Given the description of an element on the screen output the (x, y) to click on. 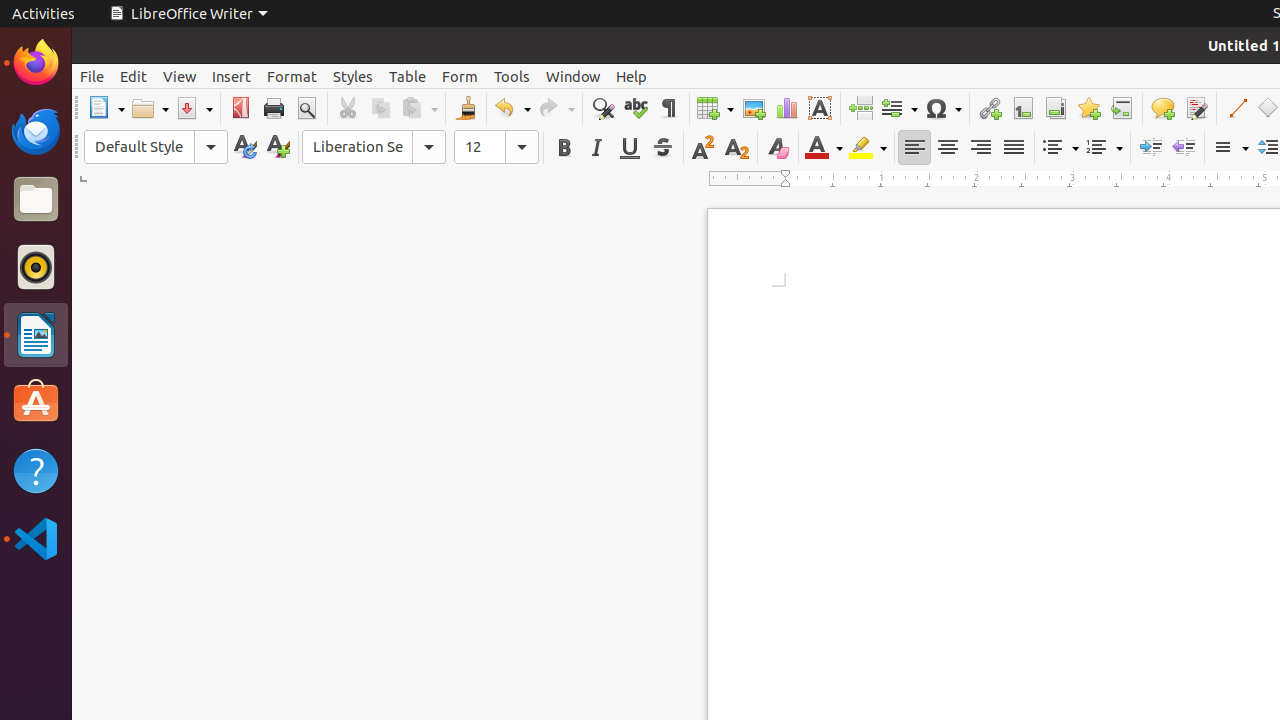
Table Element type: push-button (715, 108)
Spelling Element type: push-button (635, 108)
Table Element type: menu (407, 76)
Clear Element type: push-button (777, 147)
Field Element type: push-button (899, 108)
